Given the description of an element on the screen output the (x, y) to click on. 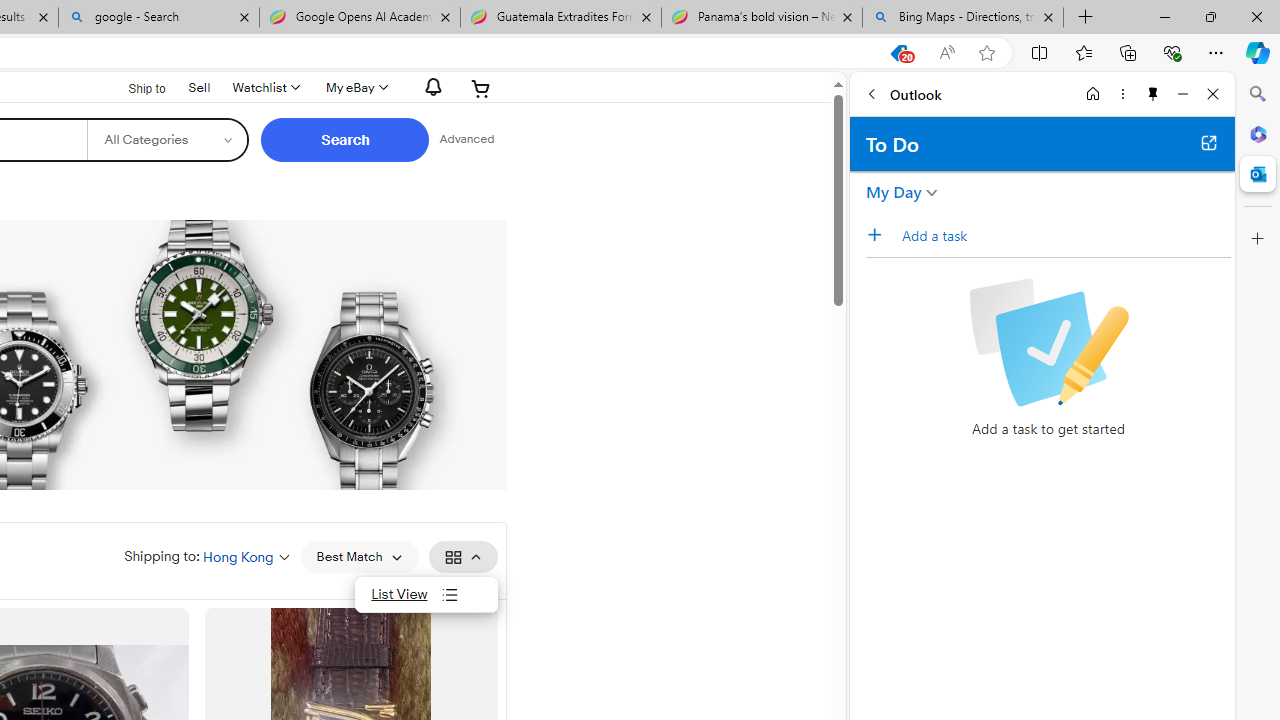
Notifications (427, 87)
Customize (1258, 239)
